Given the description of an element on the screen output the (x, y) to click on. 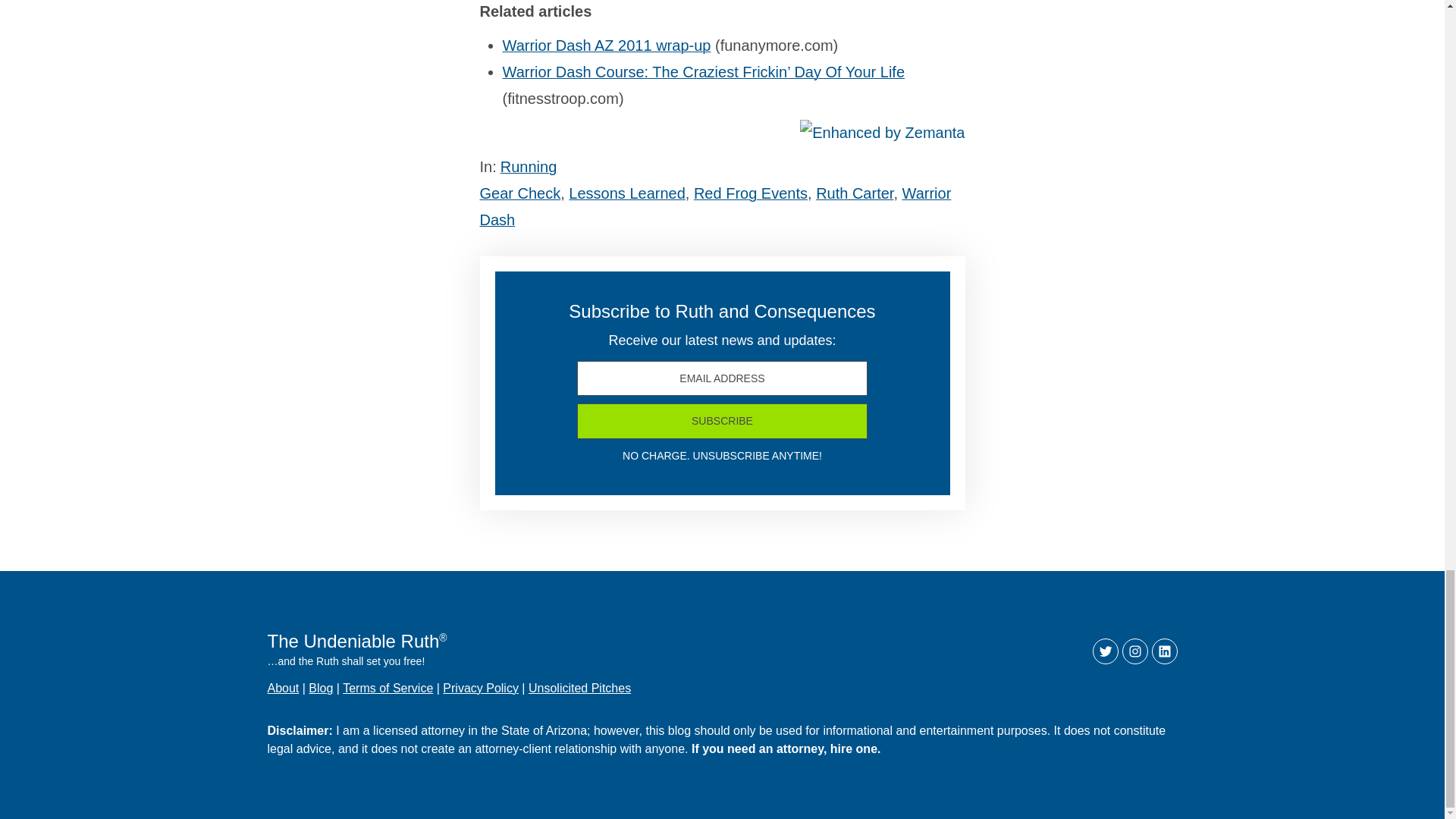
Running (528, 166)
Gear Check (519, 193)
SUBSCRIBE (721, 420)
Warrior Dash AZ 2011 wrap-up (606, 45)
Ruth Carter (854, 193)
About (282, 687)
Twitter (1105, 651)
Lessons Learned (626, 193)
LinkedIn (1164, 651)
Red Frog Events (751, 193)
